Given the description of an element on the screen output the (x, y) to click on. 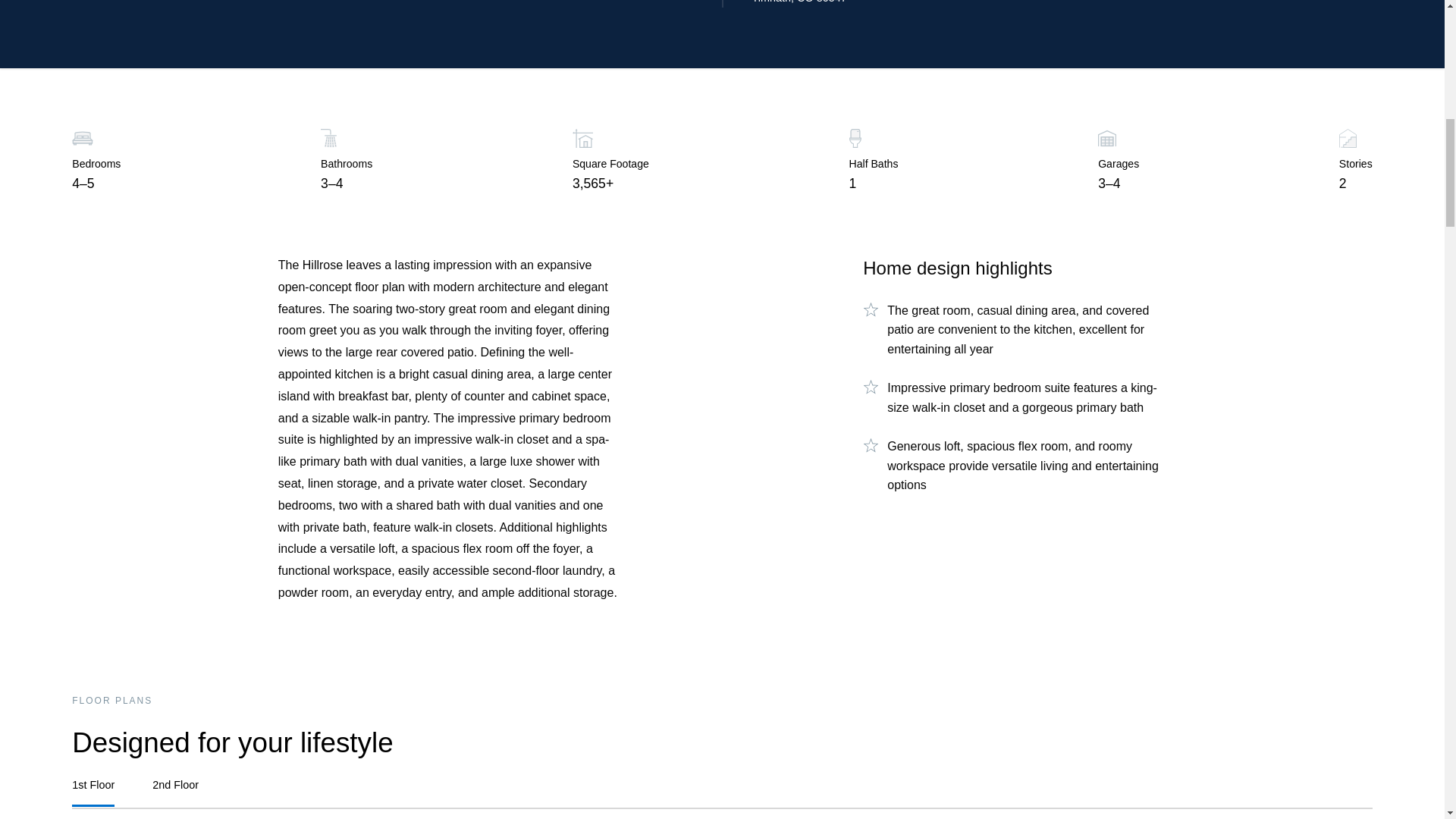
1st Floor (93, 792)
877-431-2870 (105, 1)
2nd Floor (175, 792)
